Given the description of an element on the screen output the (x, y) to click on. 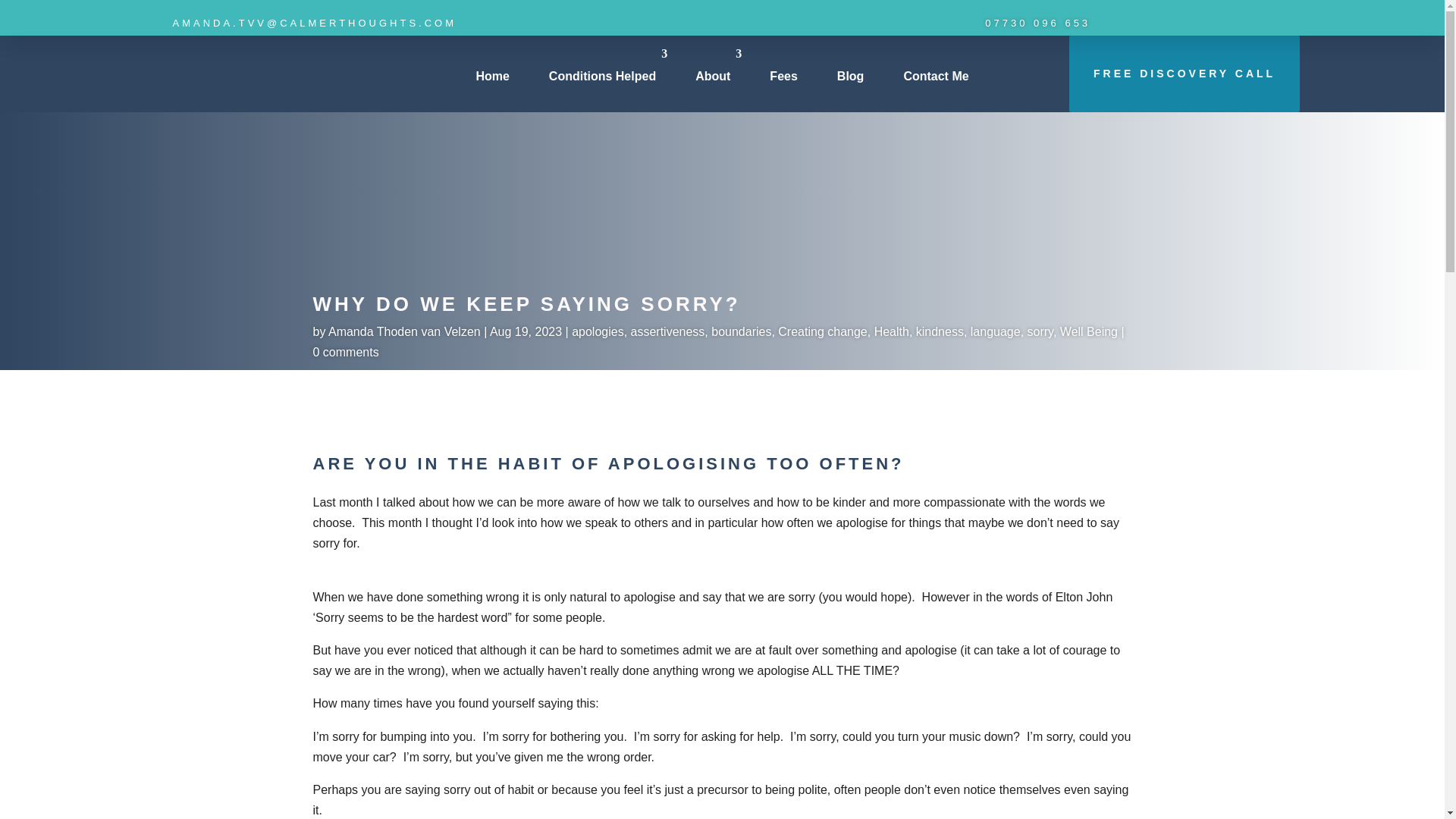
Conditions Helped (601, 76)
Posts by Amanda Thoden van Velzen (404, 331)
apologies (598, 331)
language (995, 331)
sorry (1039, 331)
CALMER-THOUGHTS-WHITE (242, 71)
Contact Me (935, 76)
Creating change (821, 331)
0 comments (345, 351)
FREE DISCOVERY CALL (1184, 74)
